Given the description of an element on the screen output the (x, y) to click on. 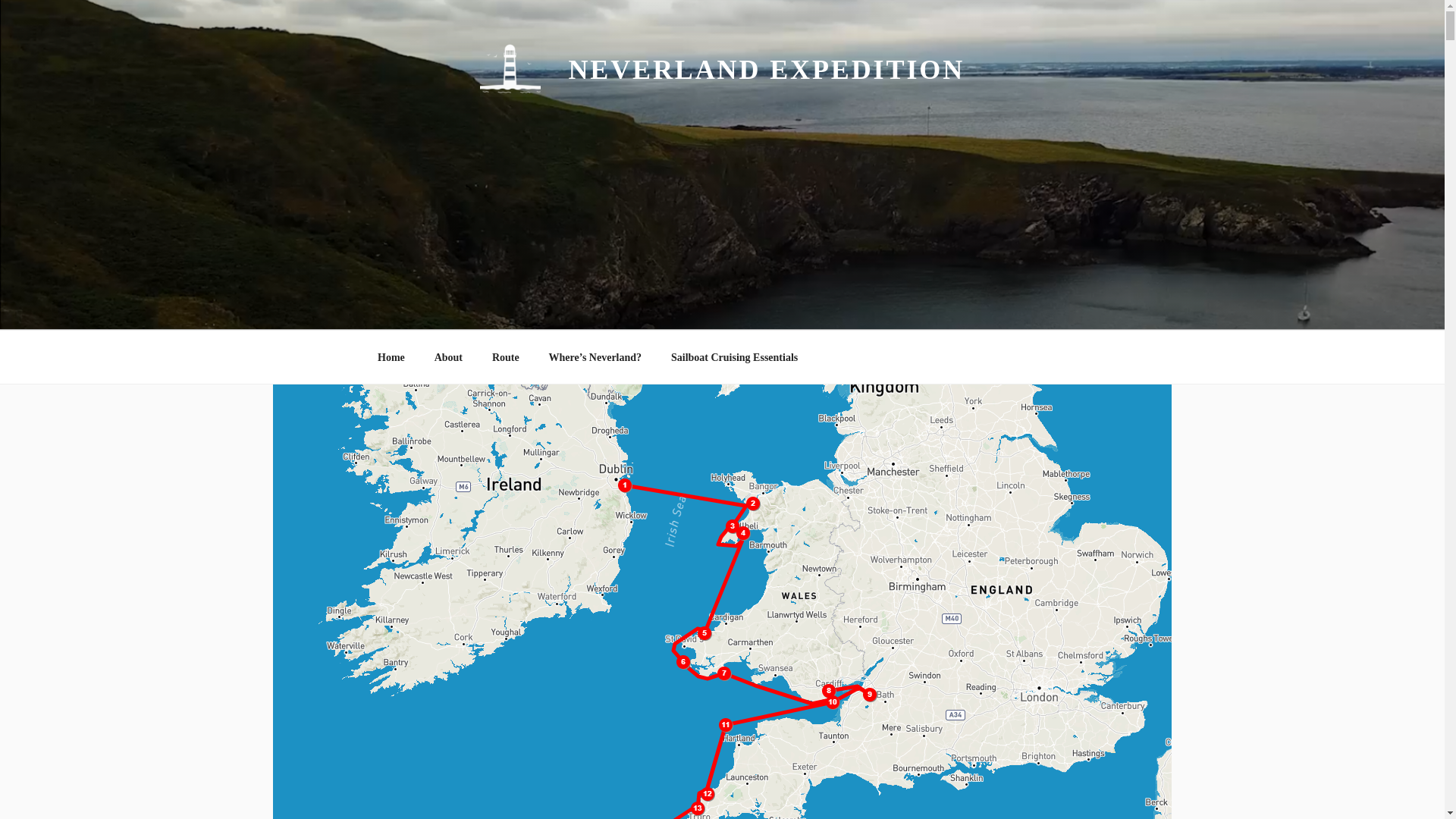
Route (505, 356)
Sailboat Cruising Essentials (734, 356)
About (448, 356)
Home (390, 356)
NEVERLAND EXPEDITION (765, 69)
